Given the description of an element on the screen output the (x, y) to click on. 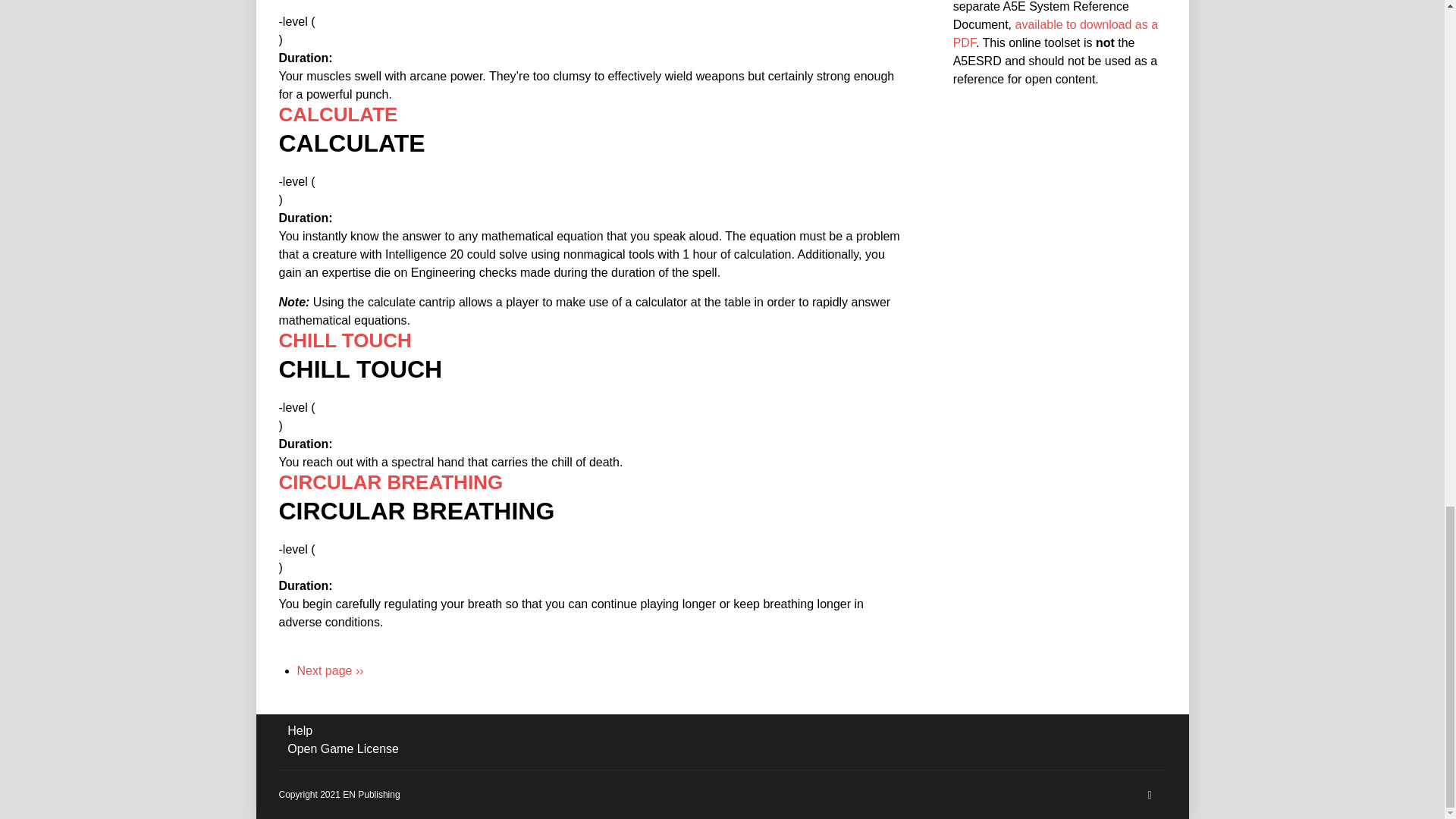
Go to next page (330, 670)
